Given the description of an element on the screen output the (x, y) to click on. 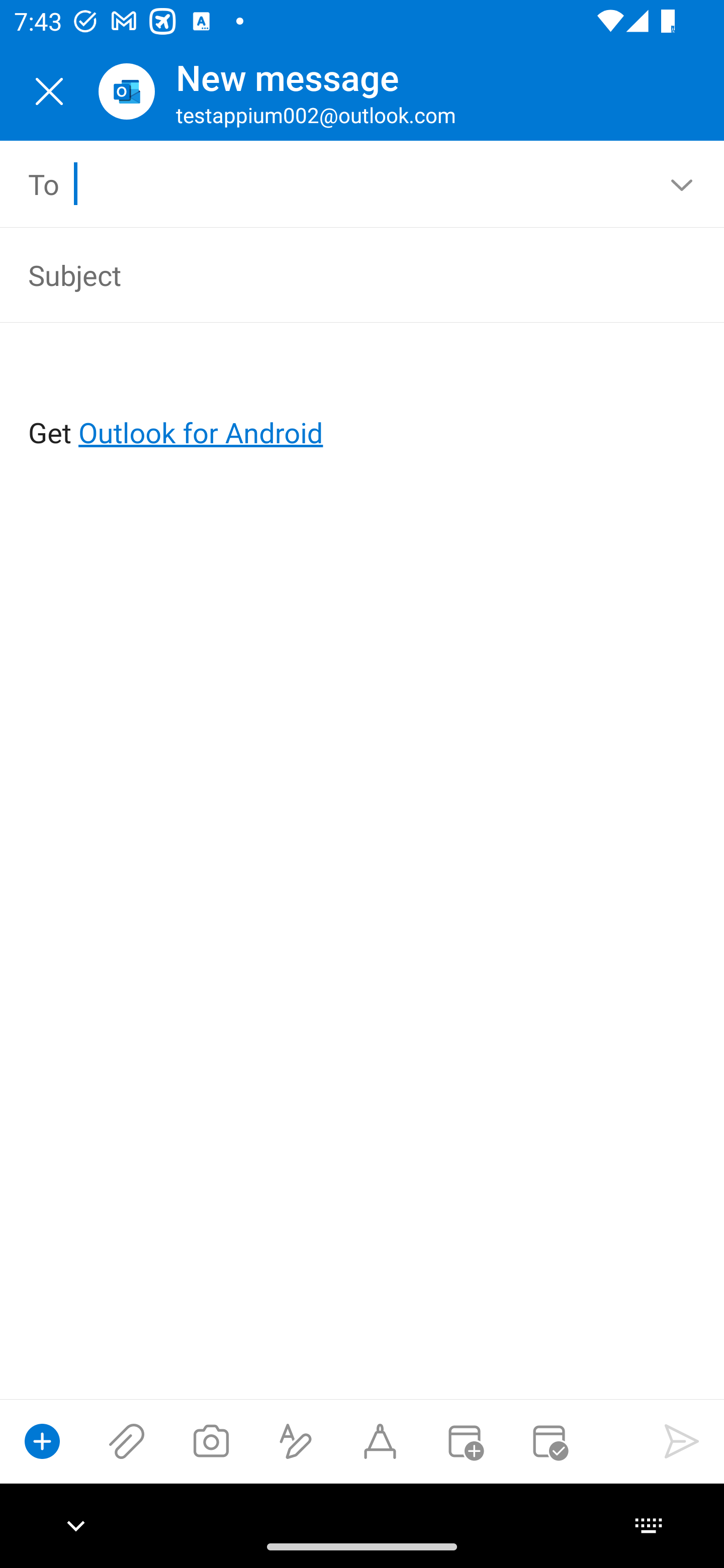
Close (49, 91)
Subject (333, 274)
Show compose options (42, 1440)
Attach files (126, 1440)
Take a photo (210, 1440)
Show formatting options (295, 1440)
Start Ink compose (380, 1440)
Convert to event (464, 1440)
Send availability (548, 1440)
Send (681, 1440)
